Given the description of an element on the screen output the (x, y) to click on. 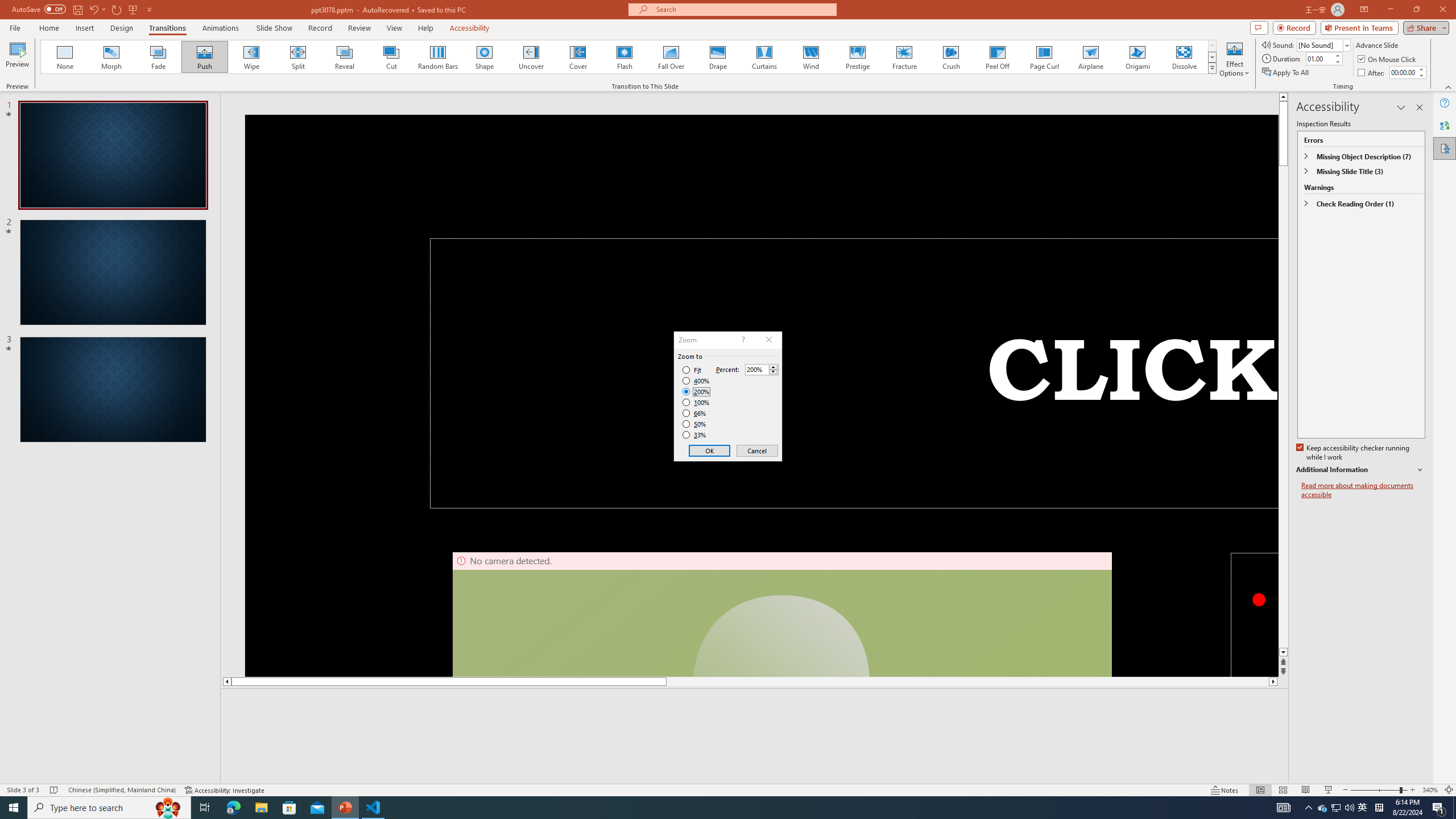
Context help (742, 339)
Sound (1324, 44)
OK (709, 450)
Shape (484, 56)
Curtains (764, 56)
Crush (950, 56)
